Given the description of an element on the screen output the (x, y) to click on. 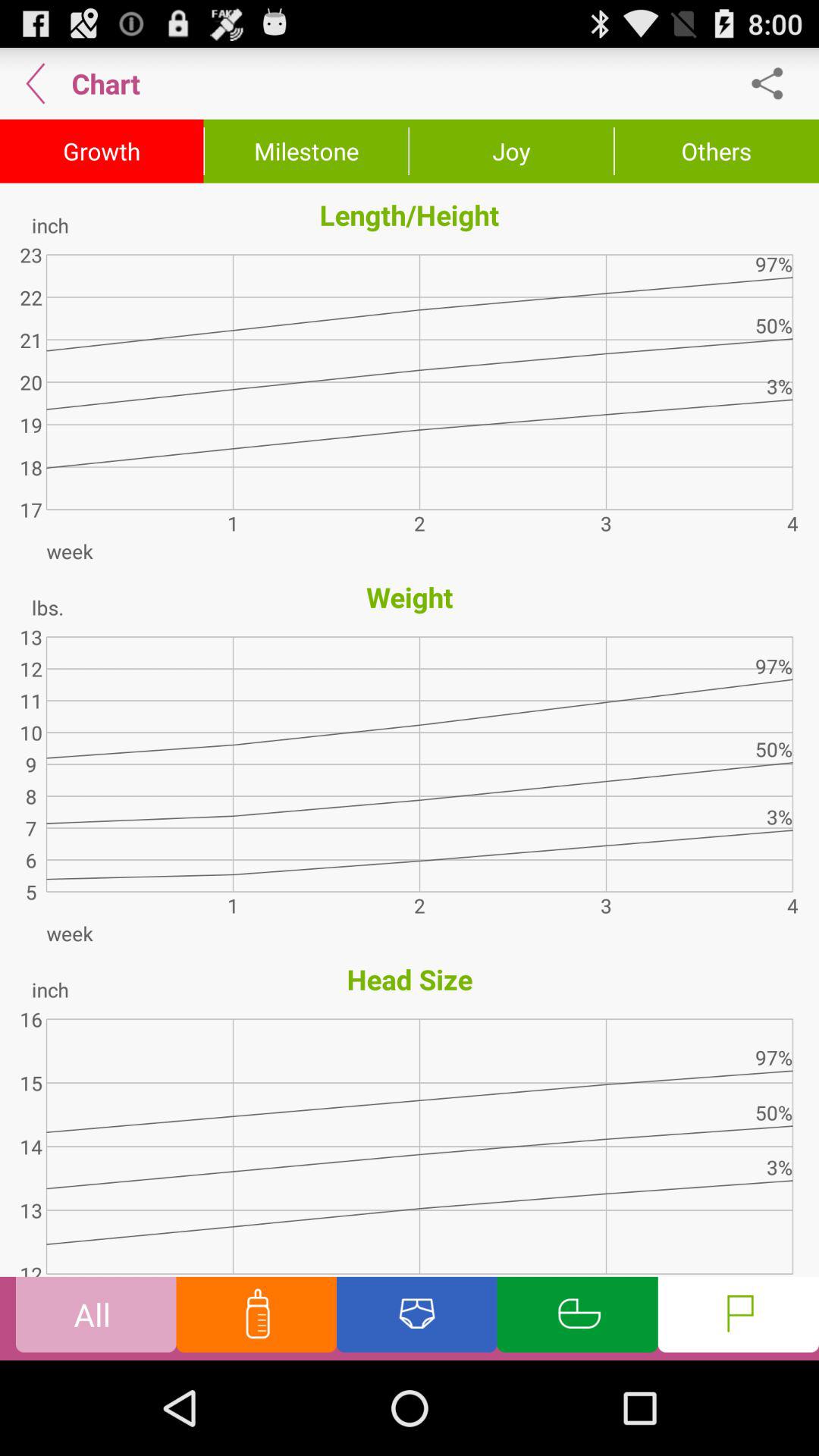
flip to the all button (95, 1318)
